Given the description of an element on the screen output the (x, y) to click on. 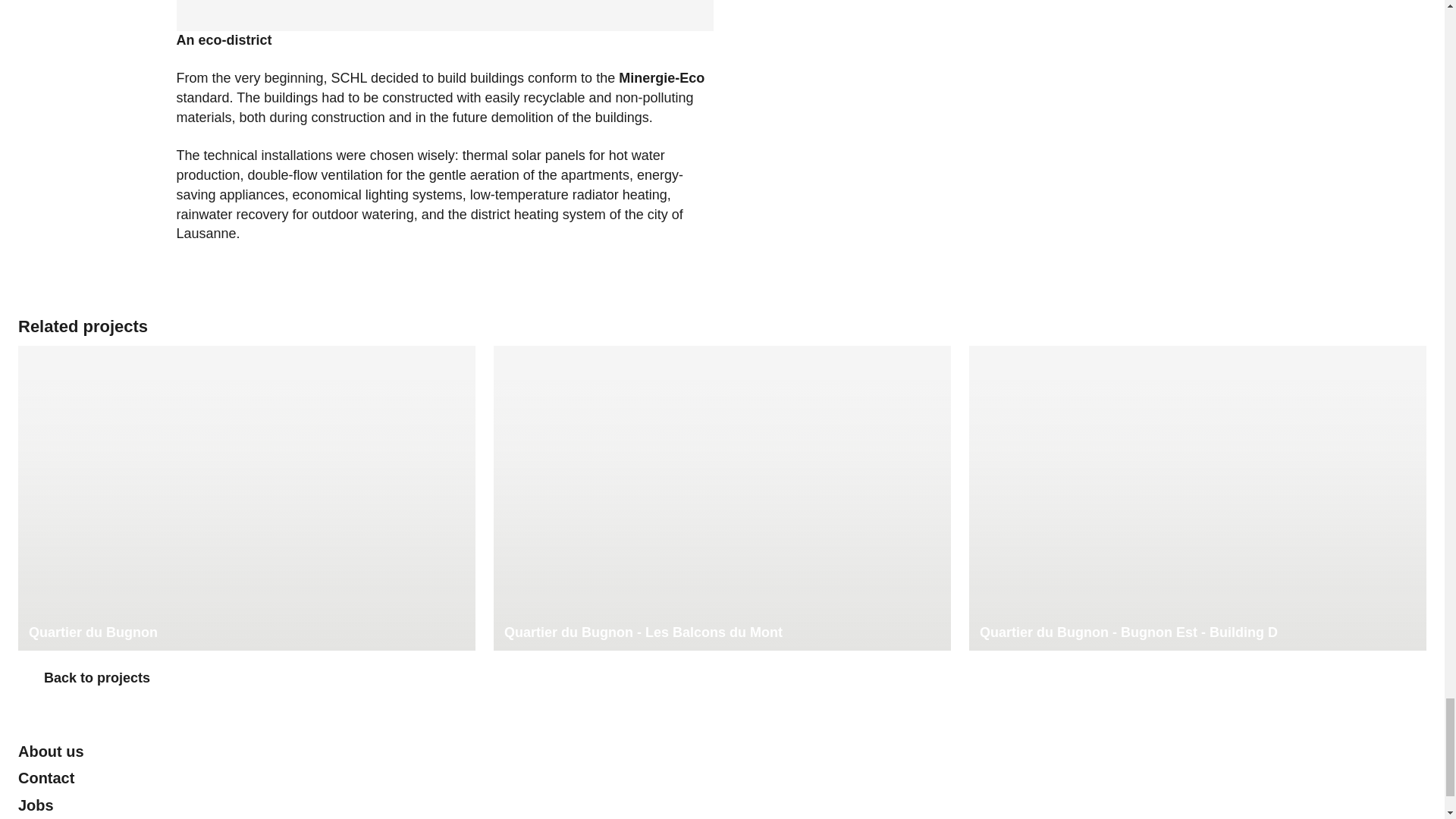
About us (50, 751)
Contact (45, 777)
Back to projects (83, 679)
Jobs (35, 805)
